Given the description of an element on the screen output the (x, y) to click on. 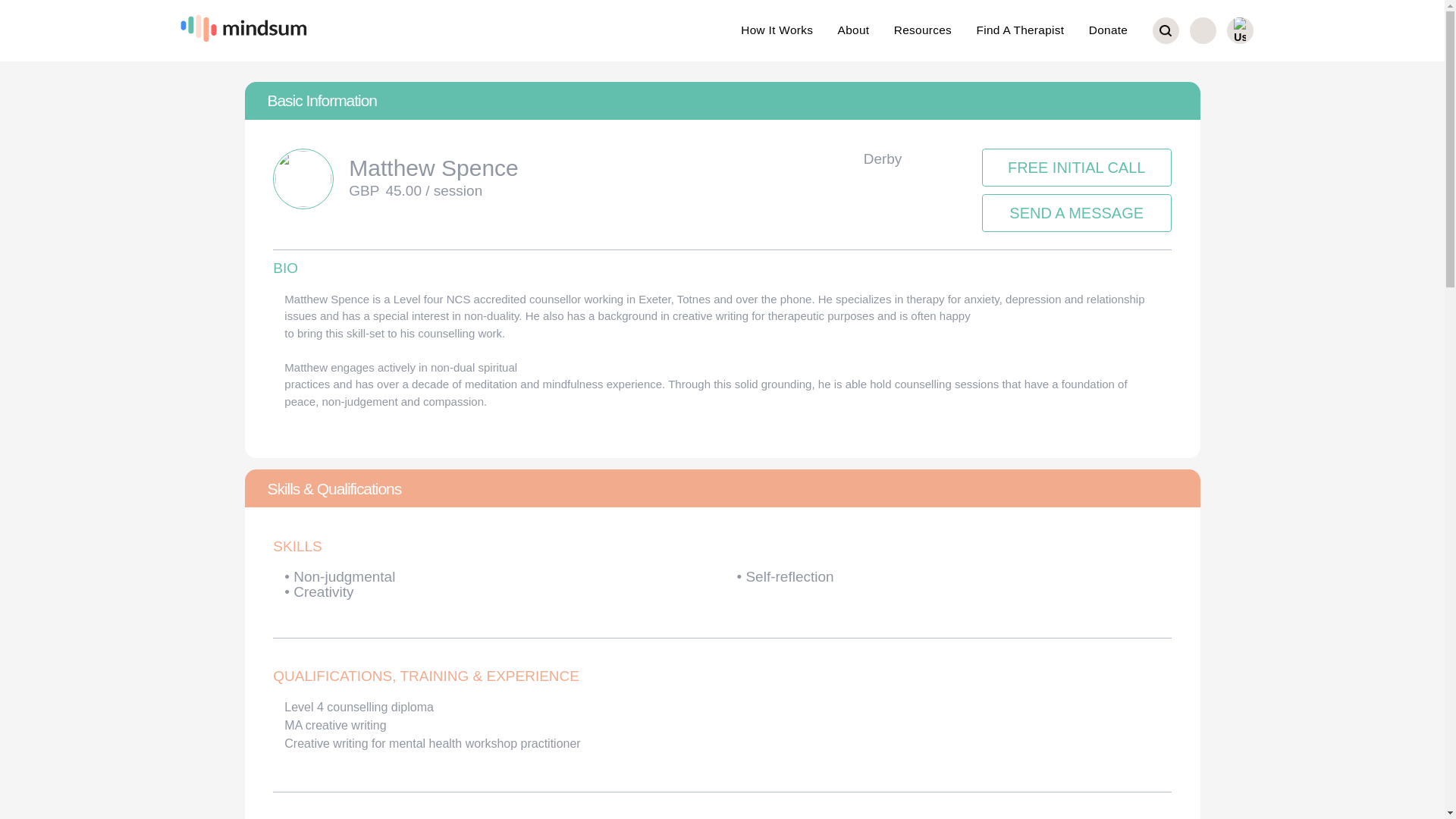
Donate (1107, 30)
About (853, 30)
SEND A MESSAGE (1076, 212)
FREE INITIAL CALL (1076, 171)
Find A Therapist (1019, 30)
How It Works (776, 30)
Resources (922, 30)
